Given the description of an element on the screen output the (x, y) to click on. 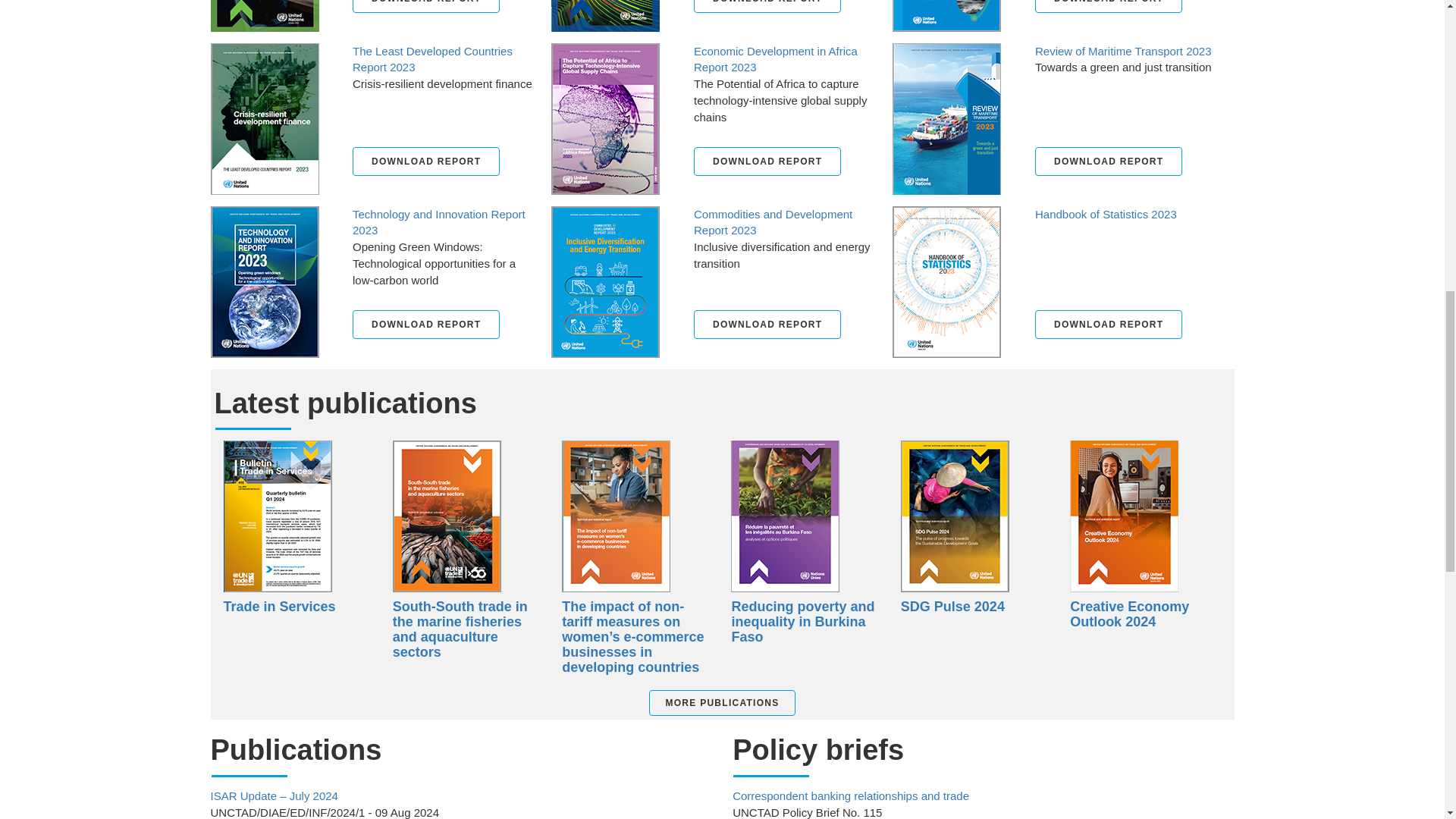
Technology and Innovation Report 2023 (264, 280)
Economic Development in Africa Report 2023 (605, 117)
Handbook of Statistics 2023 (946, 280)
Commodities and Development Report 2023 (605, 280)
The Least Developed Countries Report 2023 (264, 117)
Review of Maritime Transport 2023 (946, 117)
